Given the description of an element on the screen output the (x, y) to click on. 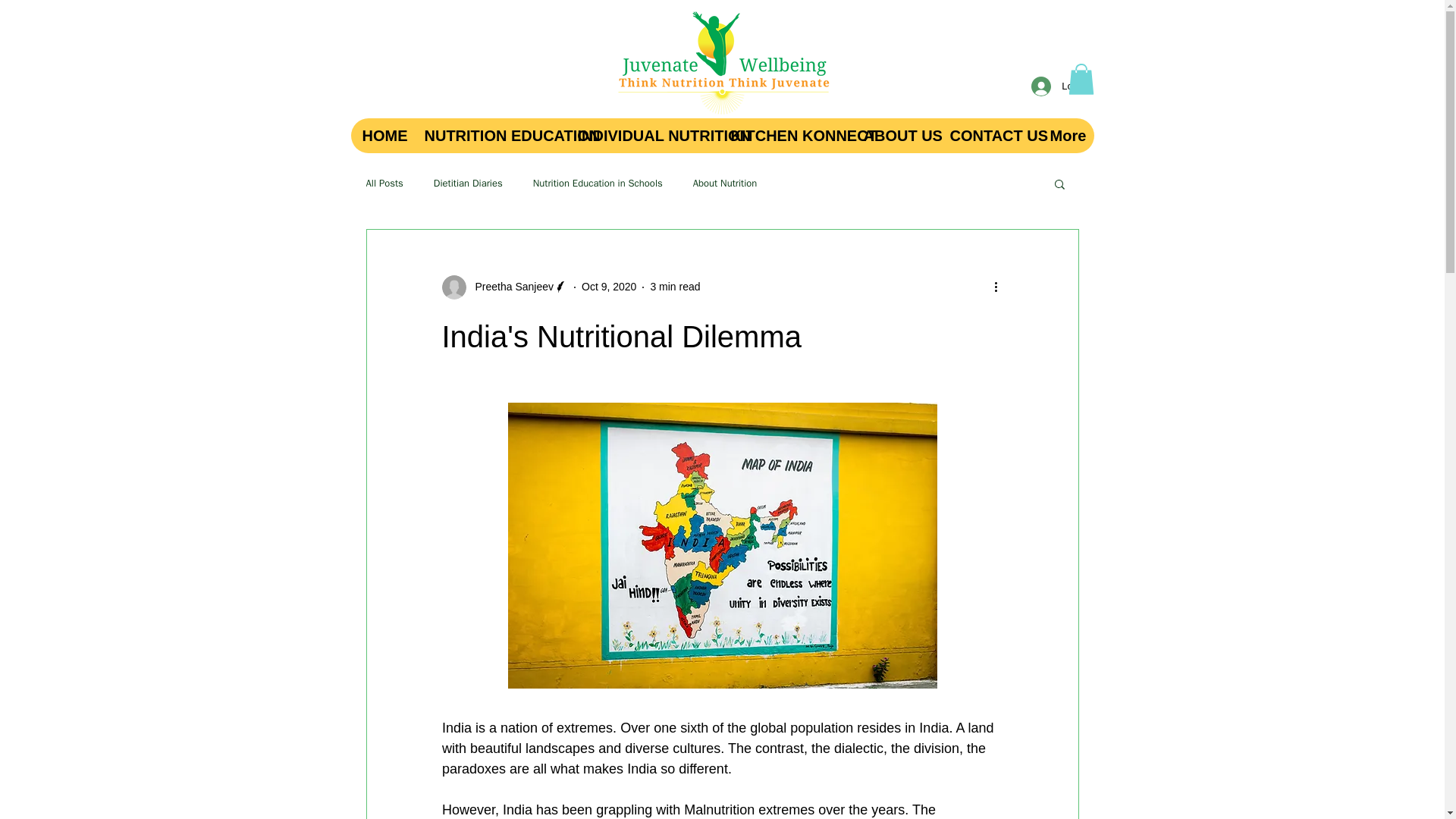
HOME (381, 135)
INDIVIDUAL NUTRITION (642, 135)
Preetha Sanjeev (509, 286)
ABOUT US (893, 135)
Dietitian Diaries (467, 183)
Log In (1059, 86)
3 min read (674, 286)
All Posts (384, 183)
CONTACT US (986, 135)
Preetha Sanjeev (504, 287)
Nutrition Education in Schools (597, 183)
NUTRITION EDUCATION (489, 135)
KITCHEN KONNECT (785, 135)
Oct 9, 2020 (608, 286)
About Nutrition (725, 183)
